Given the description of an element on the screen output the (x, y) to click on. 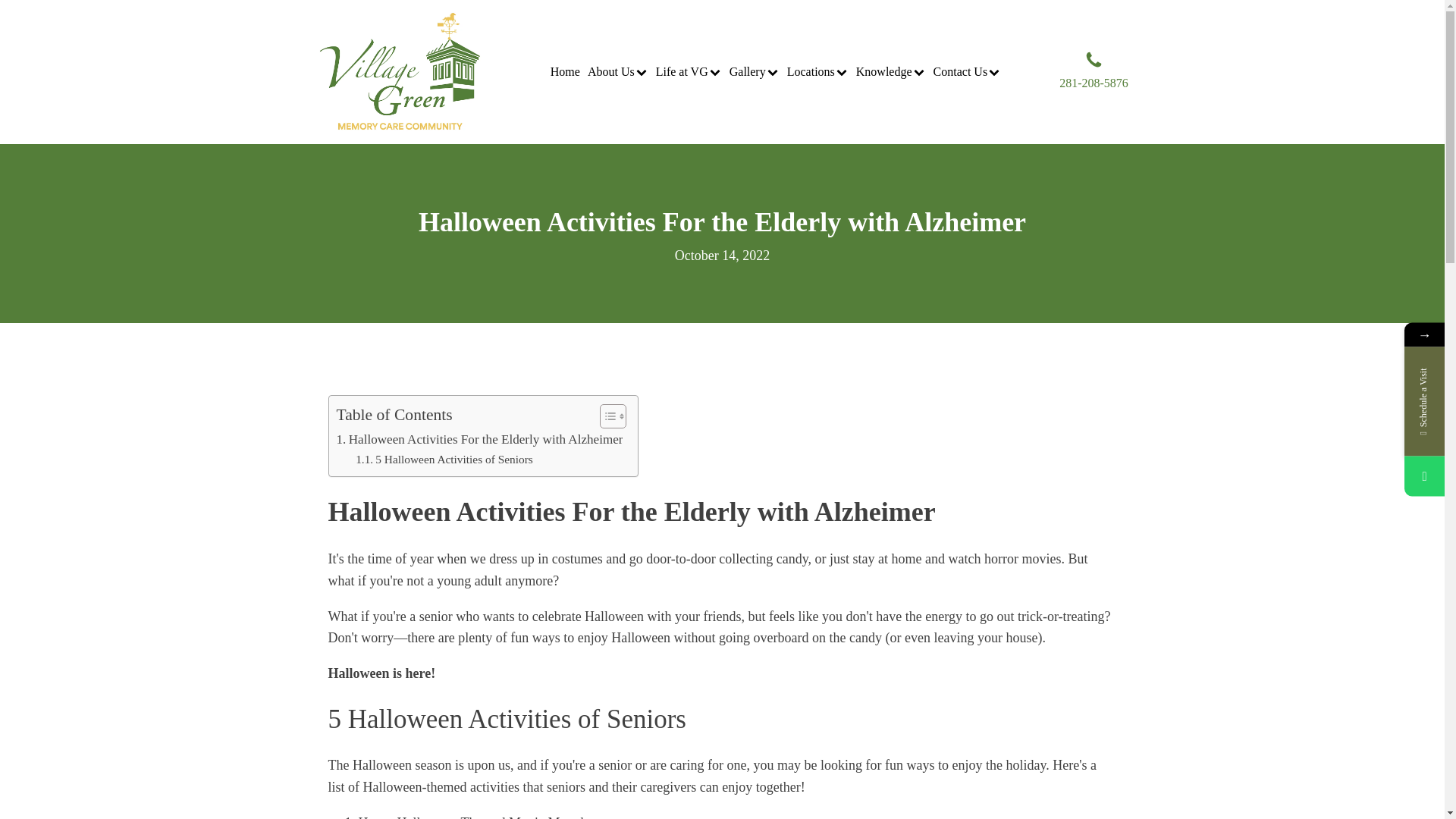
Life at VG (689, 71)
Gallery (753, 71)
Halloween Activities For the Elderly with Alzheimer (479, 439)
Knowledge (891, 71)
281-208-5876 (1093, 71)
Home (564, 71)
About Us (617, 71)
Contact Us (967, 71)
Locations (817, 71)
5 Halloween Activities of Seniors (443, 459)
